Given the description of an element on the screen output the (x, y) to click on. 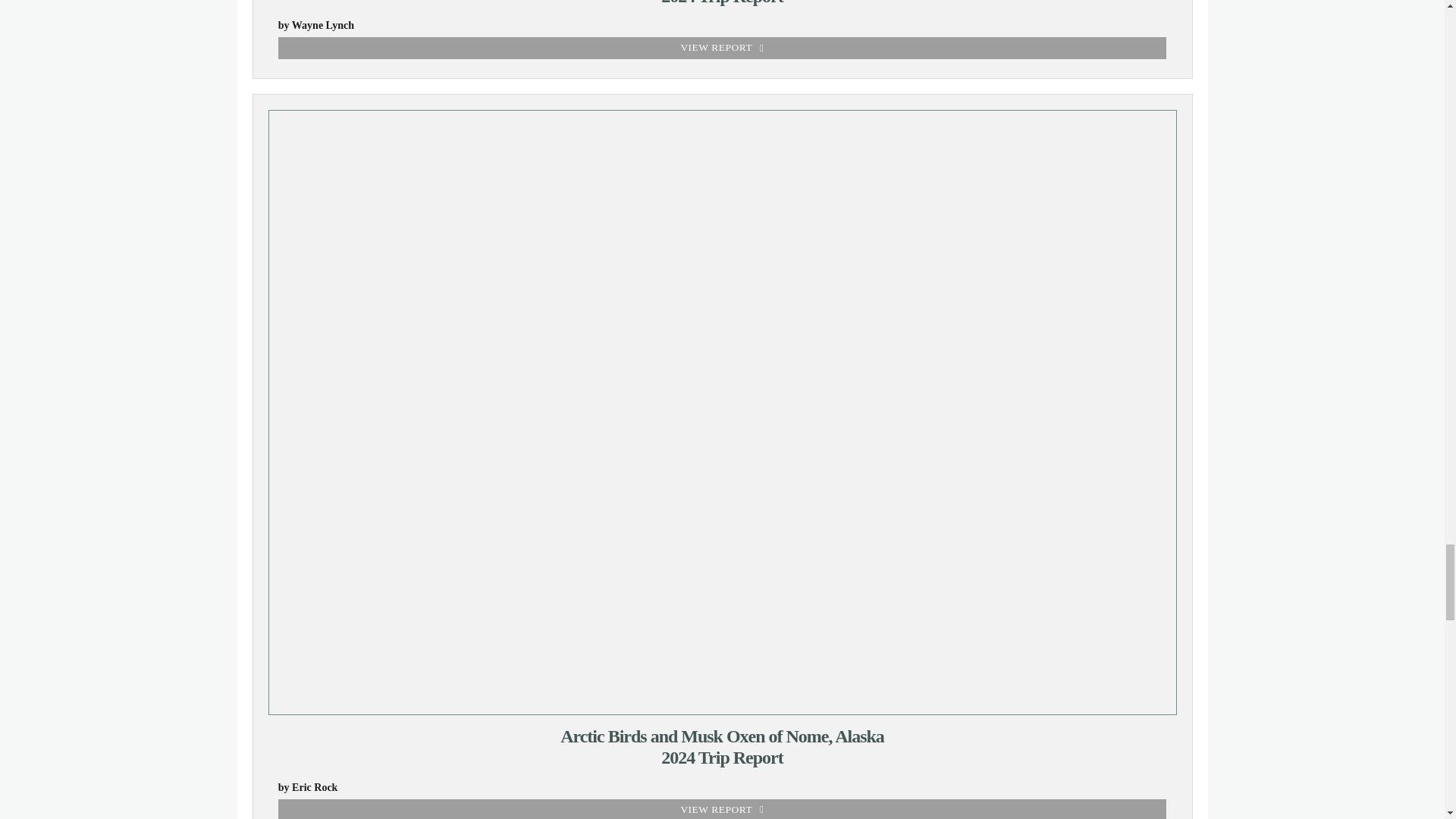
VIEW REPORT (722, 809)
VIEW REPORT (721, 2)
